Given the description of an element on the screen output the (x, y) to click on. 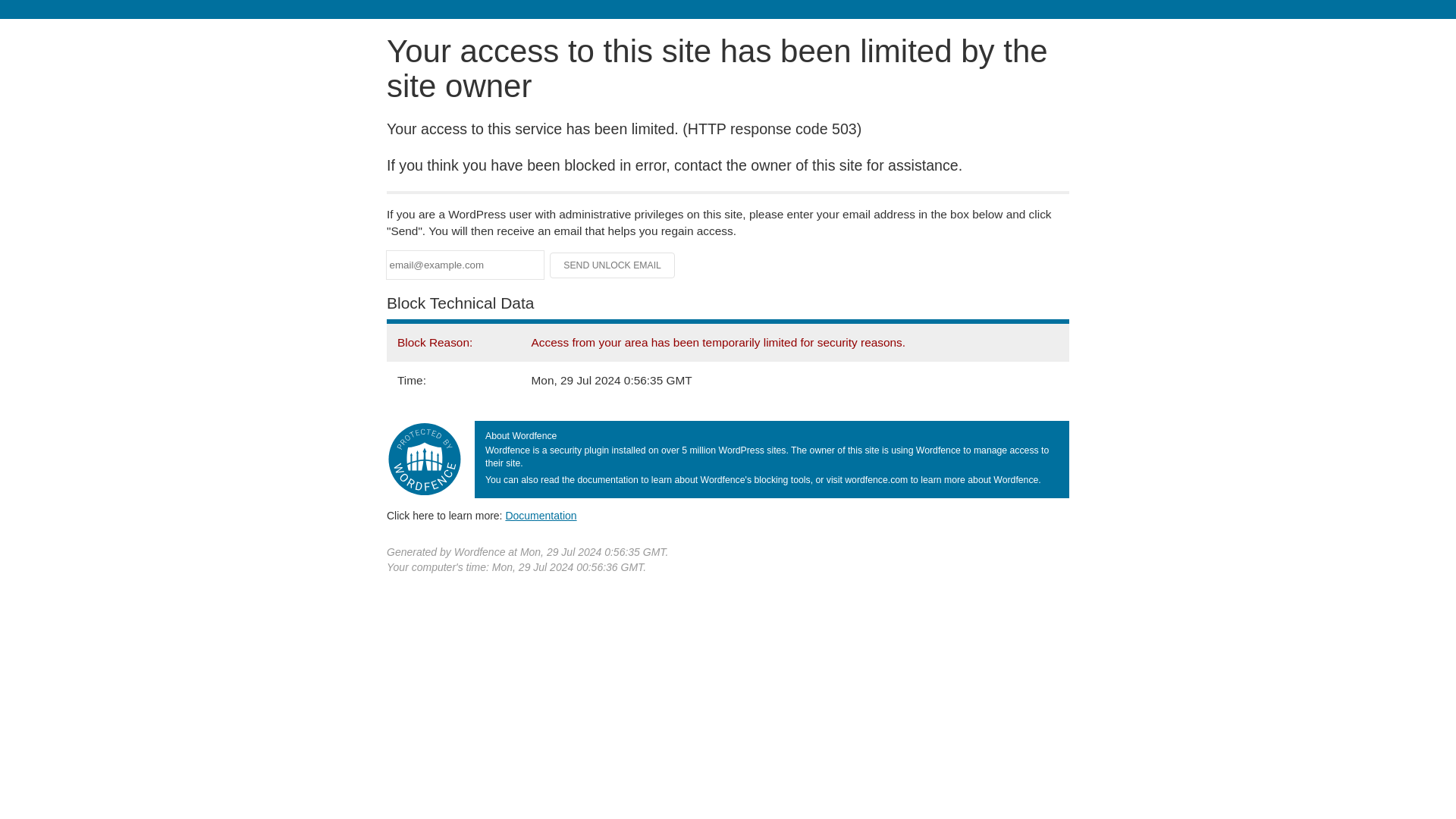
Send Unlock Email (612, 265)
Send Unlock Email (612, 265)
Documentation (540, 515)
